Given the description of an element on the screen output the (x, y) to click on. 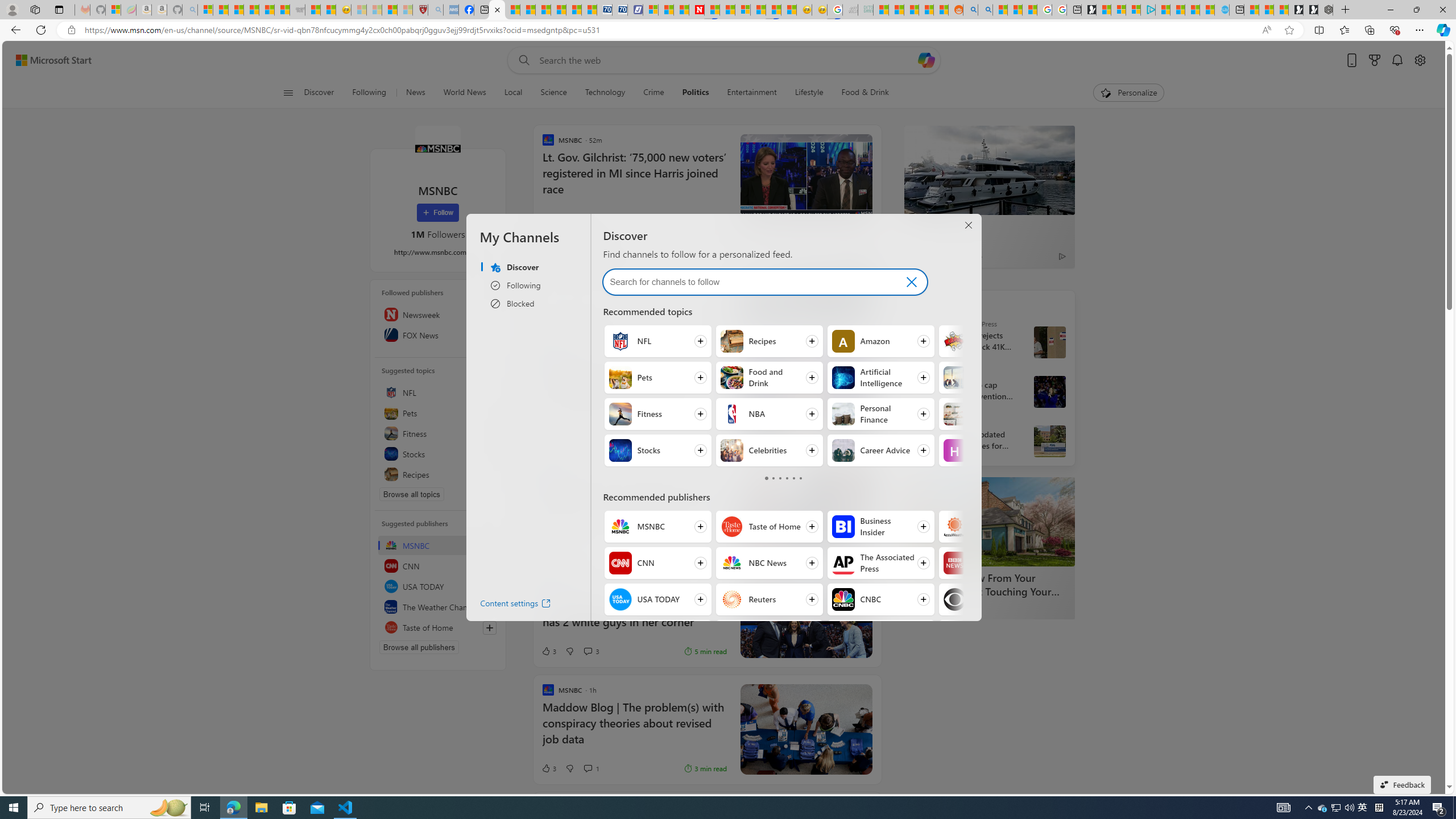
Follow Good Housekeeping (992, 635)
MSNBC (437, 545)
Browse all publishers (419, 647)
Robert H. Shmerling, MD - Harvard Health (419, 9)
Fitness (619, 413)
New Report Confirms 2023 Was Record Hot | Watch (266, 9)
How To Borrow From Your Home Without Touching Your Mortgage (988, 584)
Cheap Car Rentals - Save70.com (604, 9)
